Given the description of an element on the screen output the (x, y) to click on. 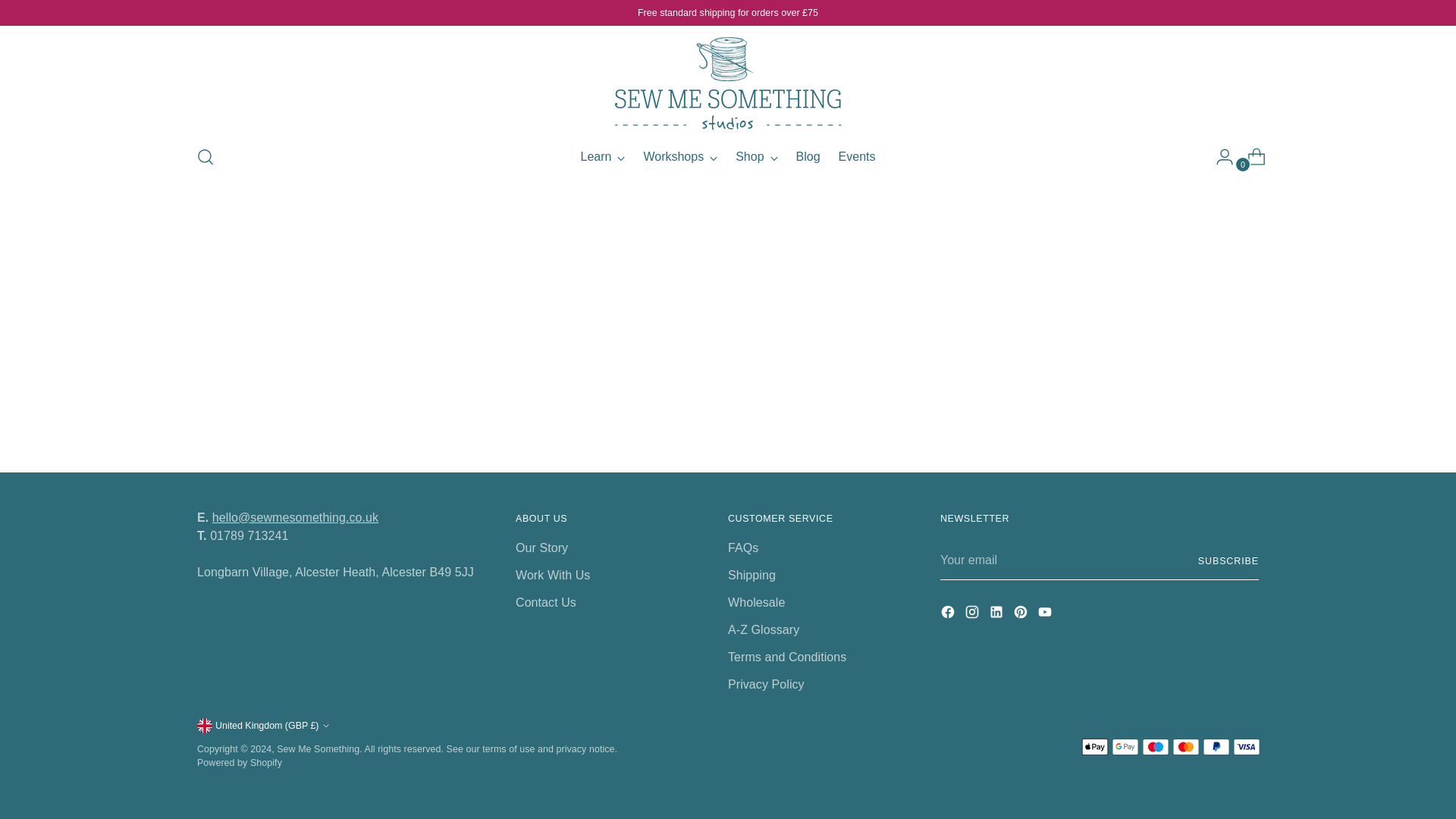
Learn (727, 156)
Shop (603, 156)
Sew Me Something on Instagram (756, 156)
Sew Me Something on Pinterest (972, 614)
Workshops (1021, 614)
